Given the description of an element on the screen output the (x, y) to click on. 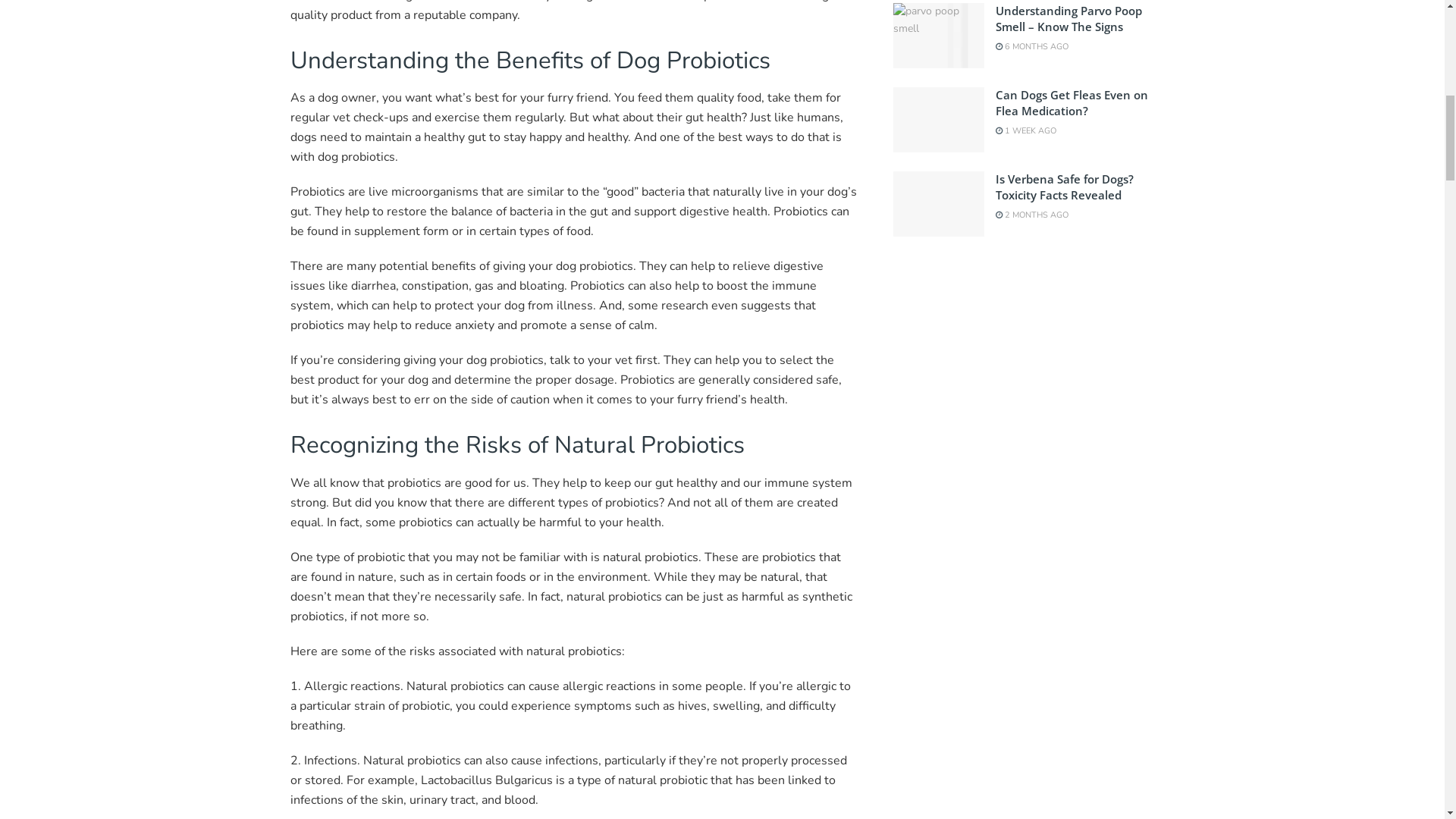
Can Dogs Get Fleas Even on Flea Medication? 8 (938, 119)
Is Verbena Safe for Dogs? Toxicity Facts Revealed 9 (938, 203)
